Given the description of an element on the screen output the (x, y) to click on. 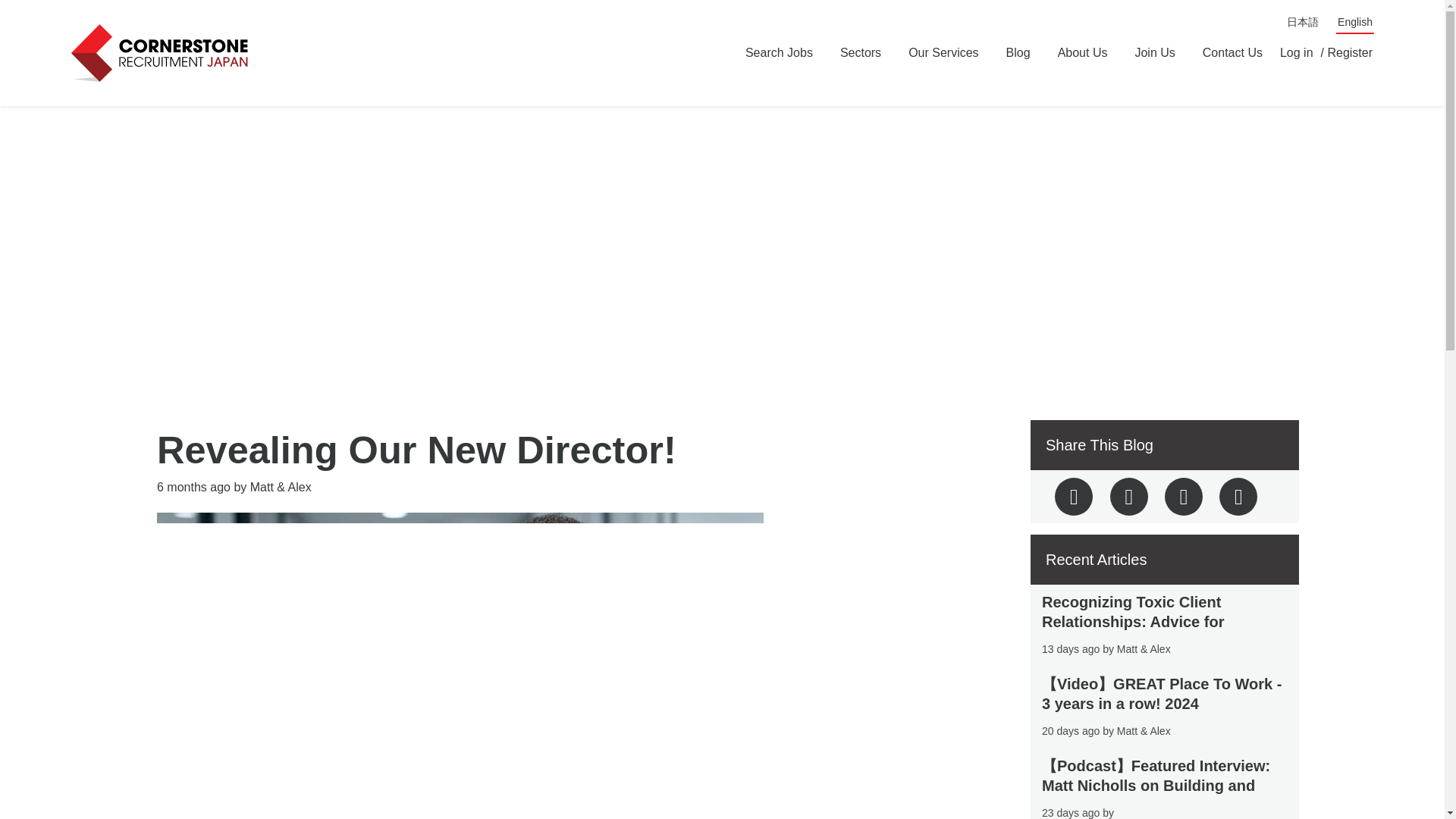
Join Us (1154, 52)
Email (1238, 496)
Register (1349, 51)
About Us (1082, 52)
Log in (1296, 51)
English (1354, 21)
Go to the Homepage (162, 52)
Cornerstone Recruitment Japan (162, 52)
LinkedIn (1183, 496)
Twitter (1073, 496)
